Given the description of an element on the screen output the (x, y) to click on. 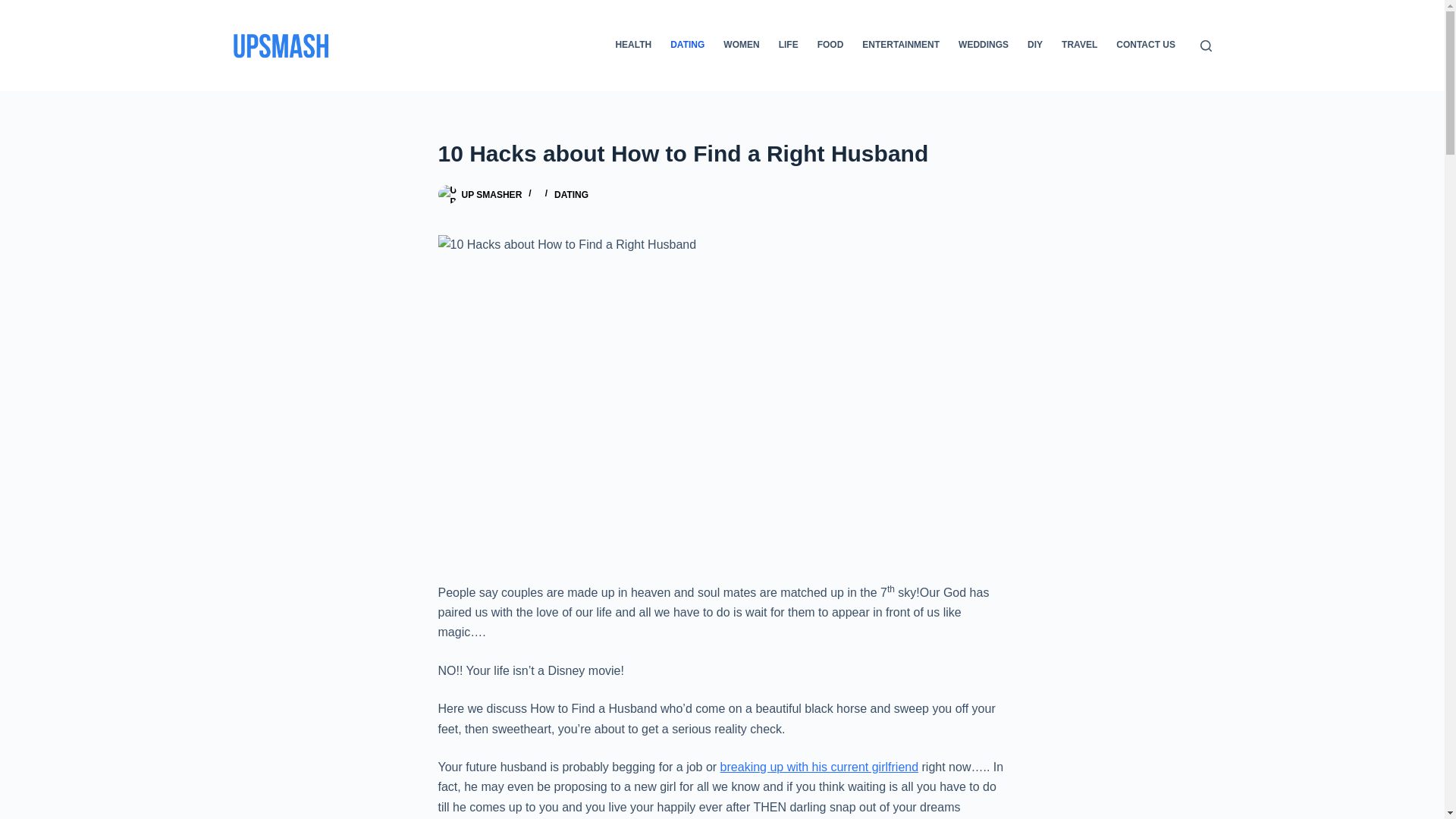
ENTERTAINMENT (901, 45)
DIY (1034, 45)
HEALTH (633, 45)
Posts by Up Smasher (491, 194)
WEDDINGS (983, 45)
DATING (687, 45)
DATING (571, 194)
FOOD (830, 45)
TRAVEL (1079, 45)
WOMEN (741, 45)
breaking up with his current girlfriend (819, 766)
UP SMASHER (491, 194)
Skip to content (15, 7)
LIFE (788, 45)
10 Hacks about How to Find a Right Husband (722, 153)
